Given the description of an element on the screen output the (x, y) to click on. 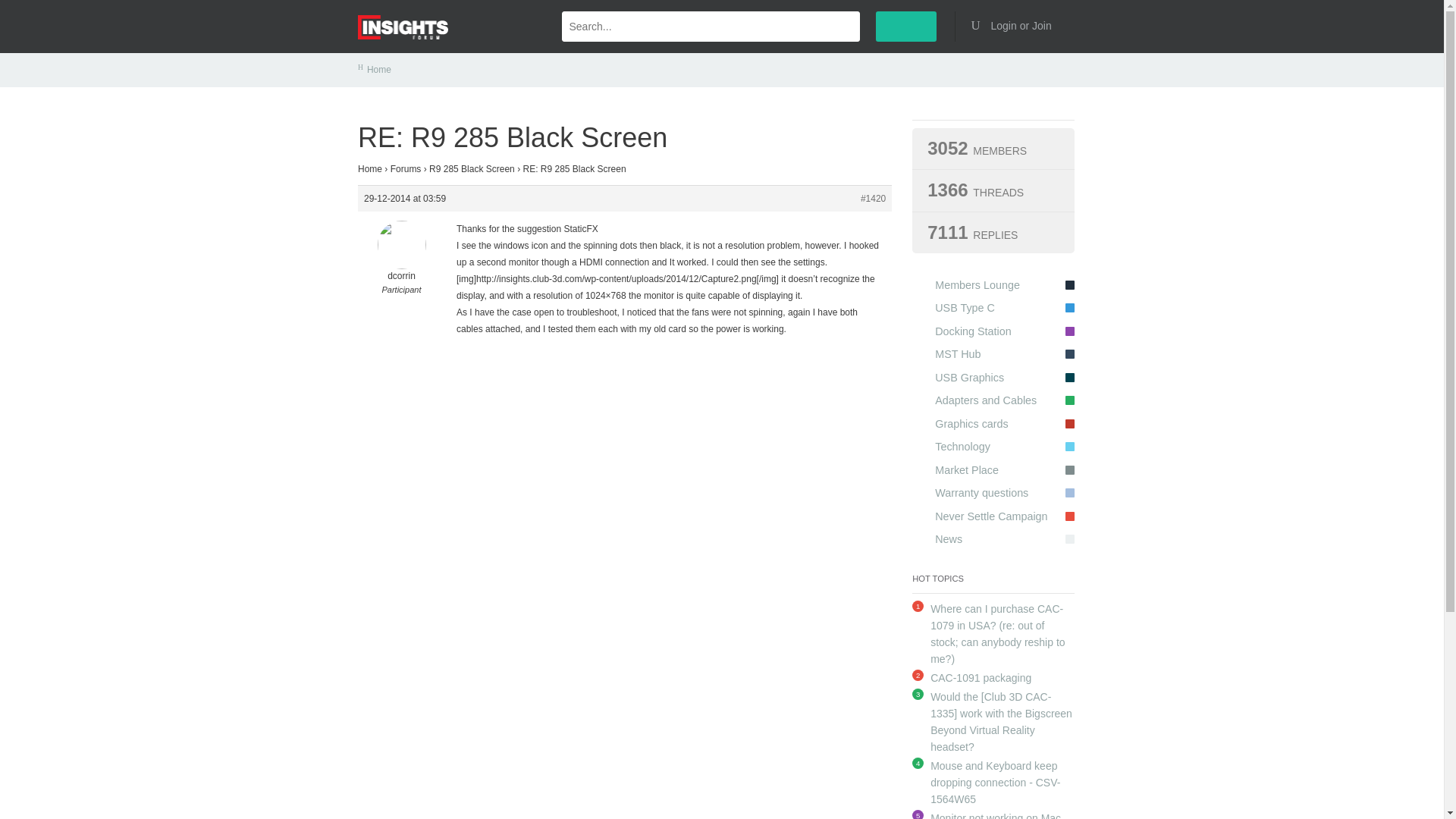
Forums (406, 168)
USB Type C (993, 307)
MST Hub (993, 354)
Login or Join (1016, 26)
Market Place (993, 469)
View dcorrin's profile (401, 258)
Home (378, 69)
Graphics cards (993, 423)
Adapters and Cables (993, 400)
Docking Station (993, 331)
